Given the description of an element on the screen output the (x, y) to click on. 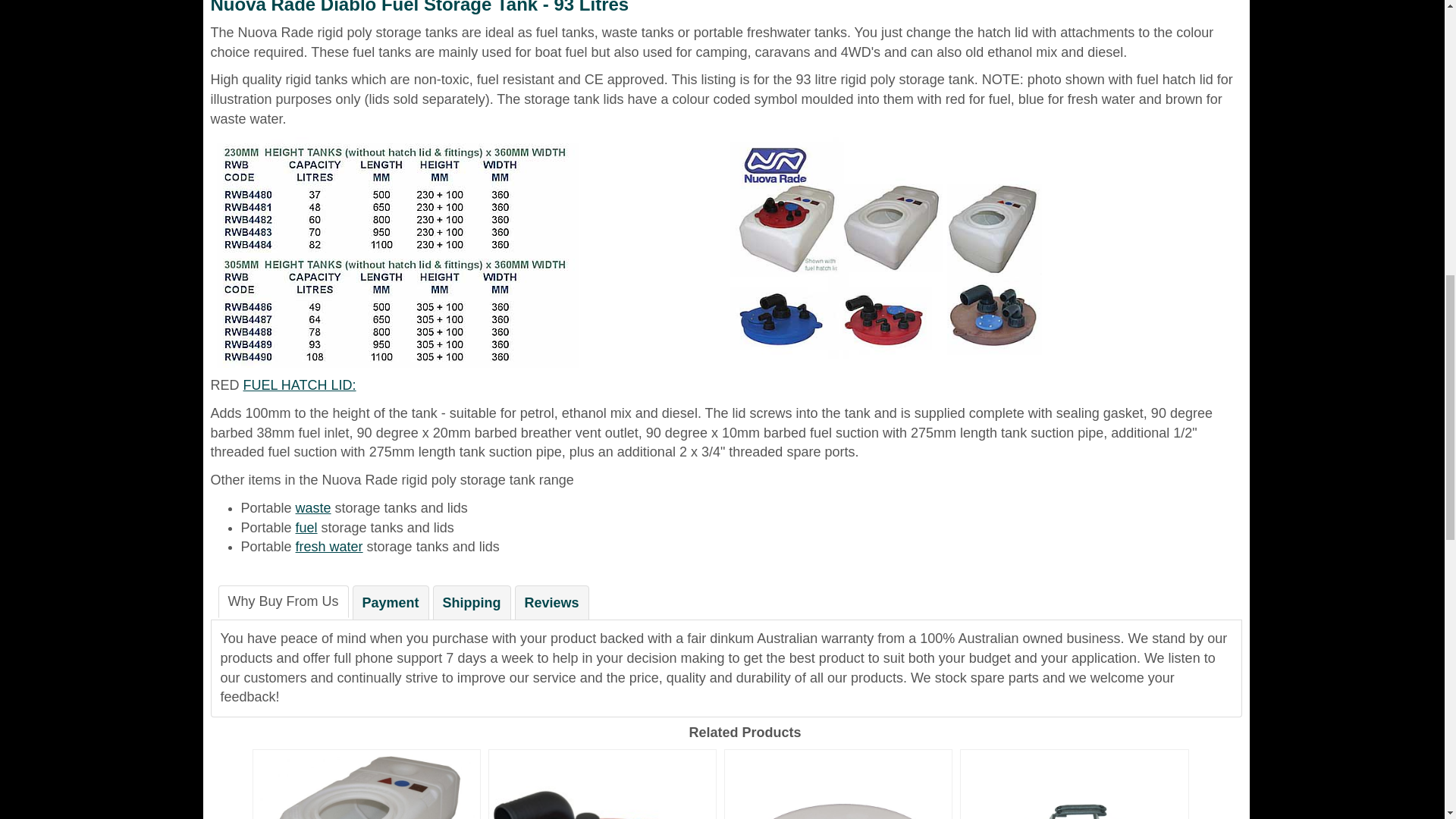
fuel (306, 527)
Why Buy From Us (283, 602)
Fuel Tank Hatch Lid (602, 784)
Blind Sealing Hatch Lid (838, 784)
waste (313, 507)
Blind Sealing Hatch Lid (838, 784)
FUEL HATCH LID: (299, 385)
Shipping (471, 602)
Reviews (552, 602)
Nuova Rade Poly Tank Tie Down Kit (1074, 784)
Fuel Storage Tank - 48 Litres (366, 784)
Reviews (552, 602)
Fuel Storage Tank - 48 Litres (366, 784)
Payment (390, 602)
Nuova Rade Poly Tank Tie Down Kit (1074, 784)
